Given the description of an element on the screen output the (x, y) to click on. 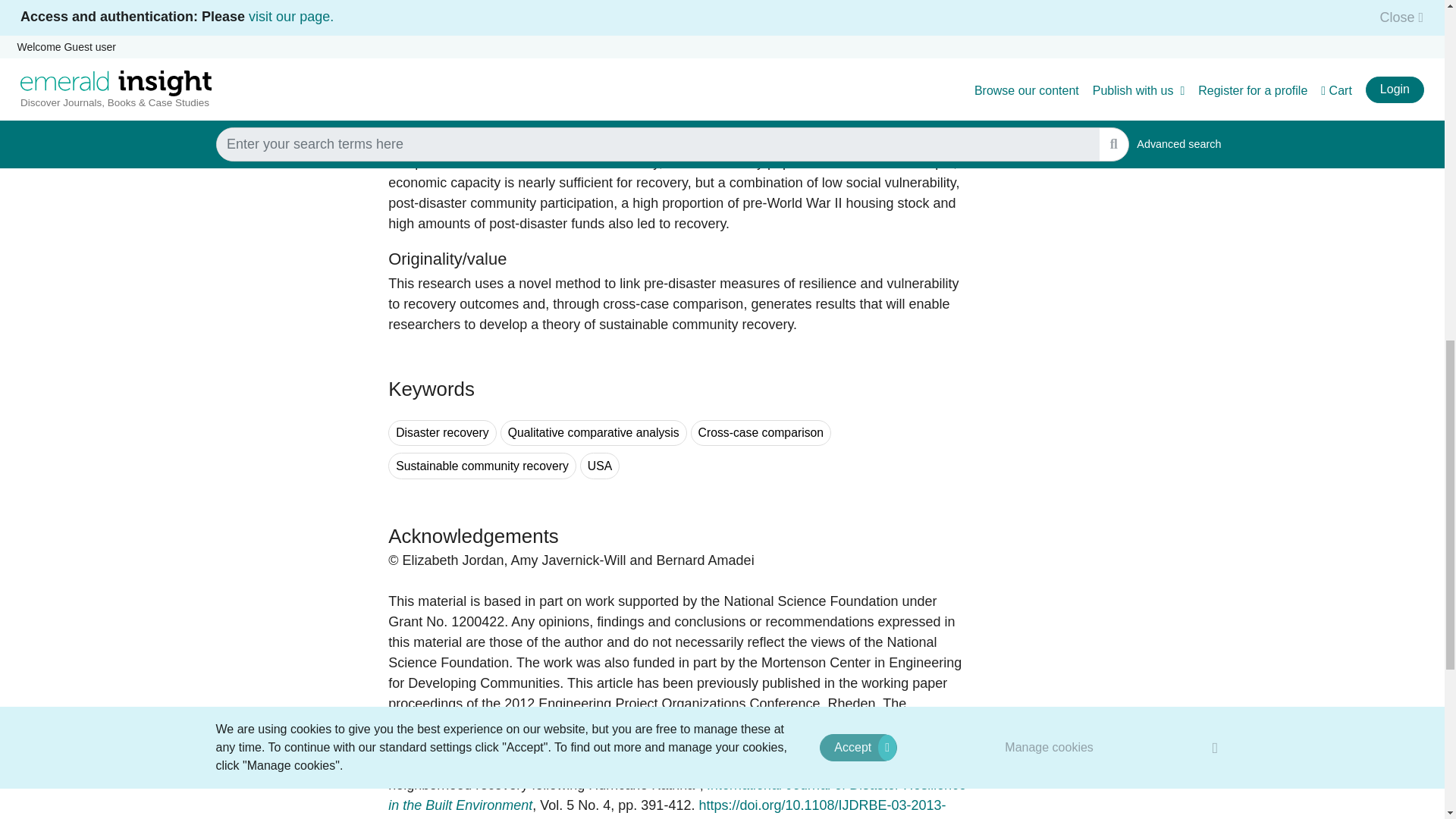
Amy Javernick-Will (510, 764)
Bernard Amadei (624, 764)
Search for keyword Disaster recovery (442, 433)
Search for keyword USA (599, 465)
Search for keyword Cross-case comparison (760, 433)
Search for keyword Sustainable community recovery (482, 465)
Elizabeth Jordan (418, 764)
Search for keyword Qualitative comparative analysis (593, 433)
